Given the description of an element on the screen output the (x, y) to click on. 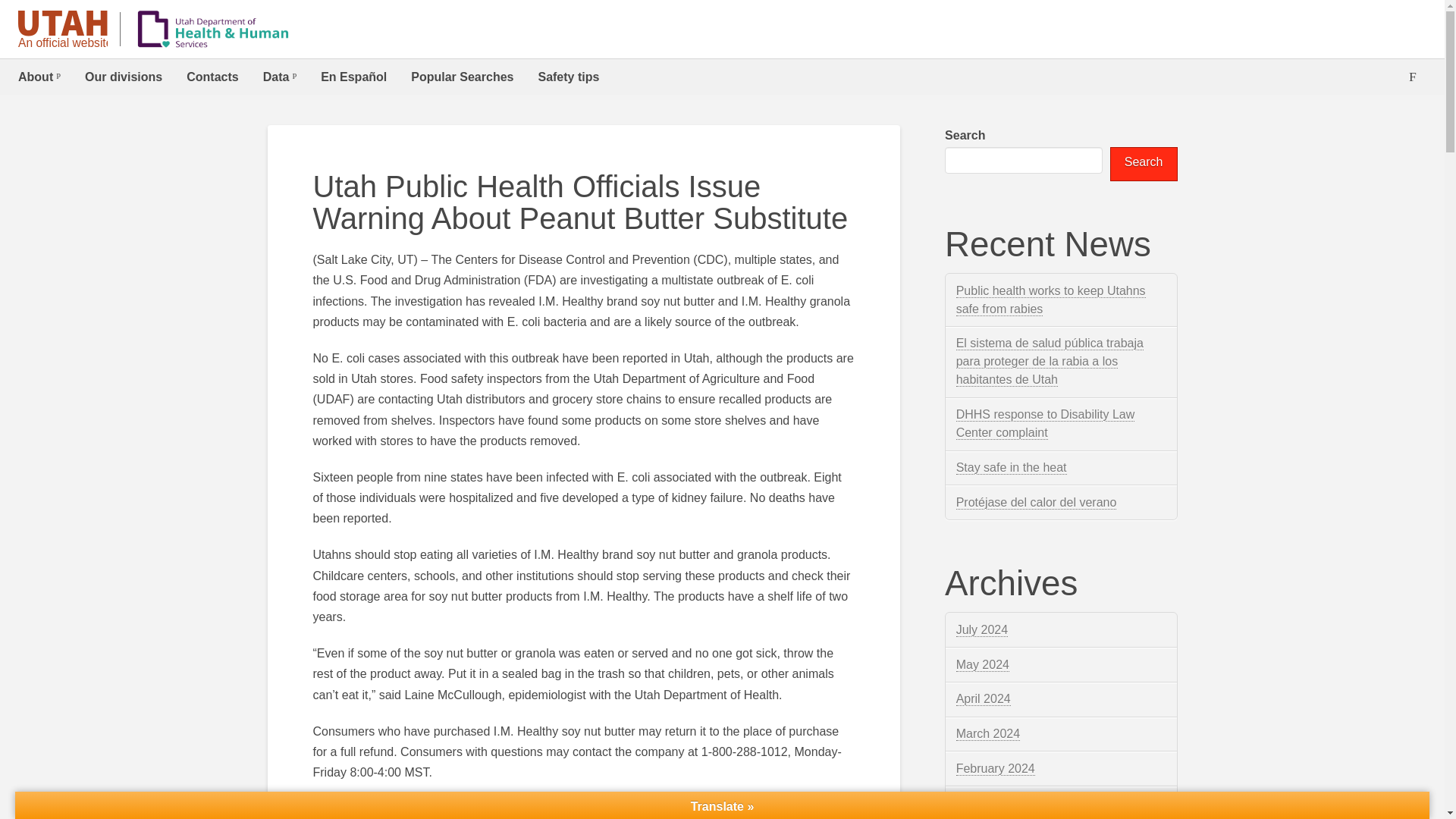
Close official website popup (11, 83)
About (38, 76)
An official website (62, 30)
DHHS (212, 29)
